Given the description of an element on the screen output the (x, y) to click on. 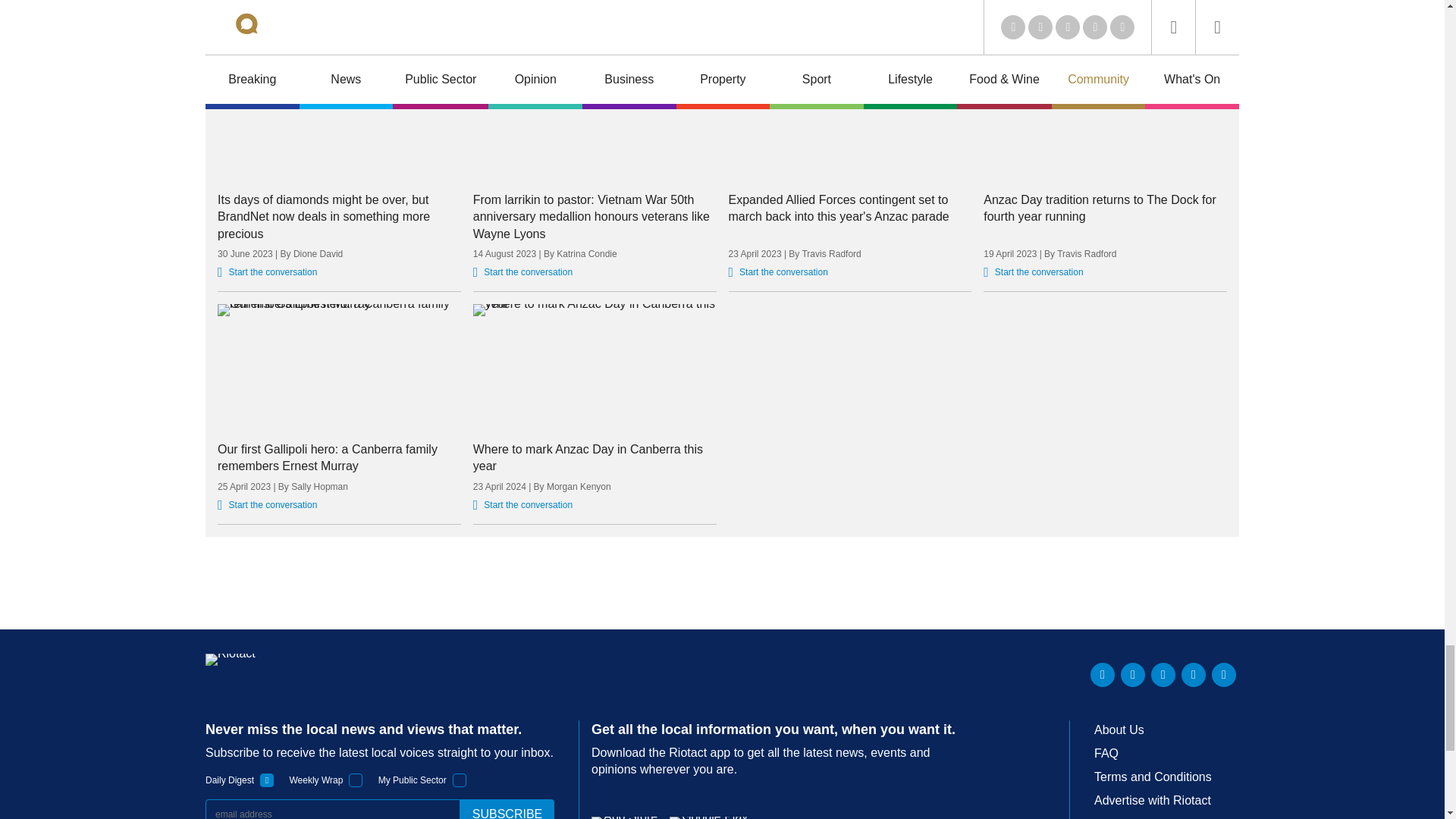
1 (266, 780)
Youtube (1162, 674)
Facebook (1192, 674)
1 (458, 780)
Instagram (1223, 674)
subscribe (507, 809)
1 (355, 780)
LinkedIn (1102, 674)
Twitter (1132, 674)
